Given the description of an element on the screen output the (x, y) to click on. 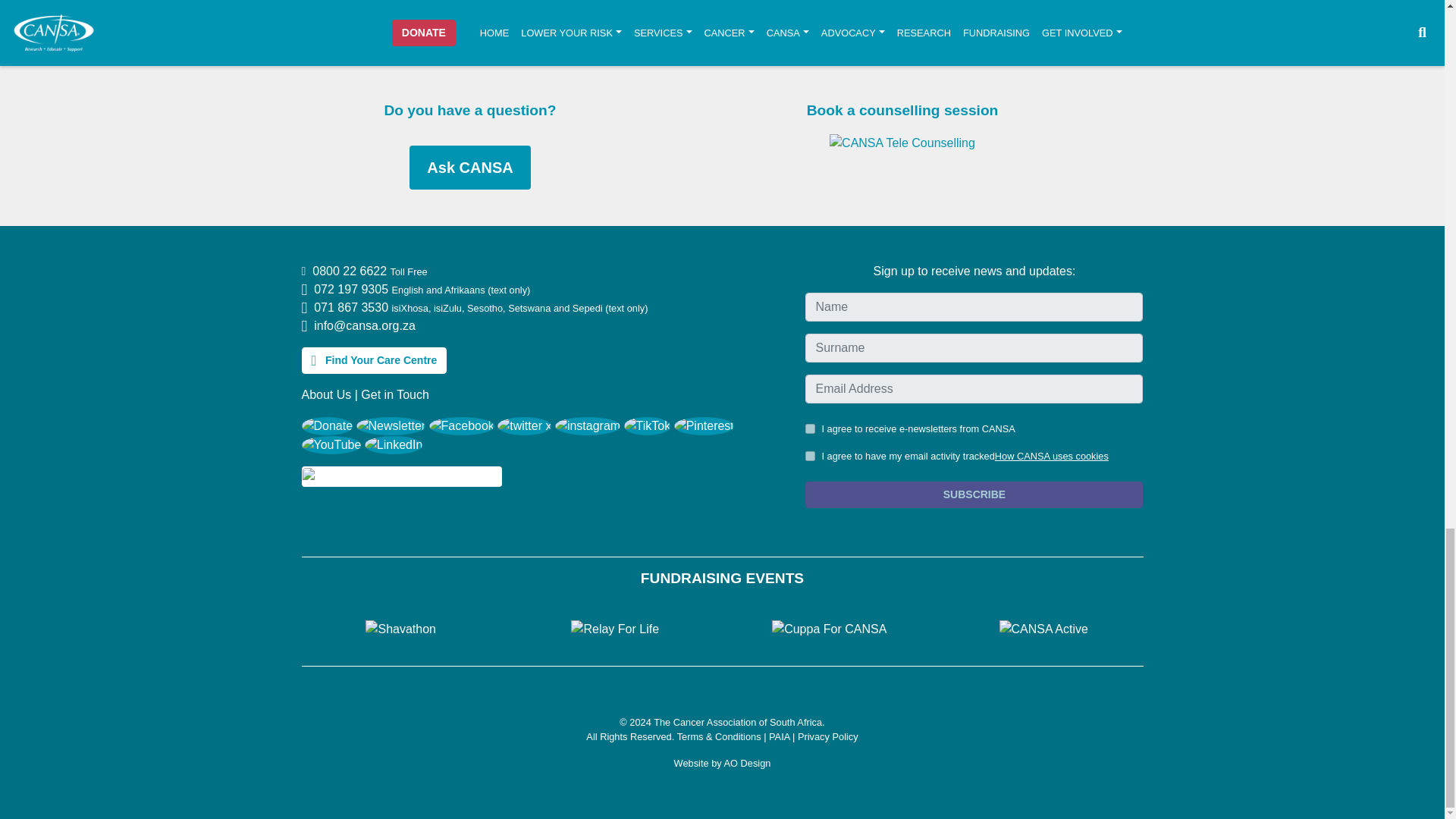
Subscribe to Our eNewsletter (391, 424)
CANSA on TikTok (647, 424)
Pin it! (703, 424)
on (810, 456)
on (810, 429)
Follow on twitter (524, 424)
Like Our Facebook Page (462, 424)
CANSA on Instagram (587, 424)
LinkedIn (394, 443)
CANSA on YouTube (331, 443)
